Given the description of an element on the screen output the (x, y) to click on. 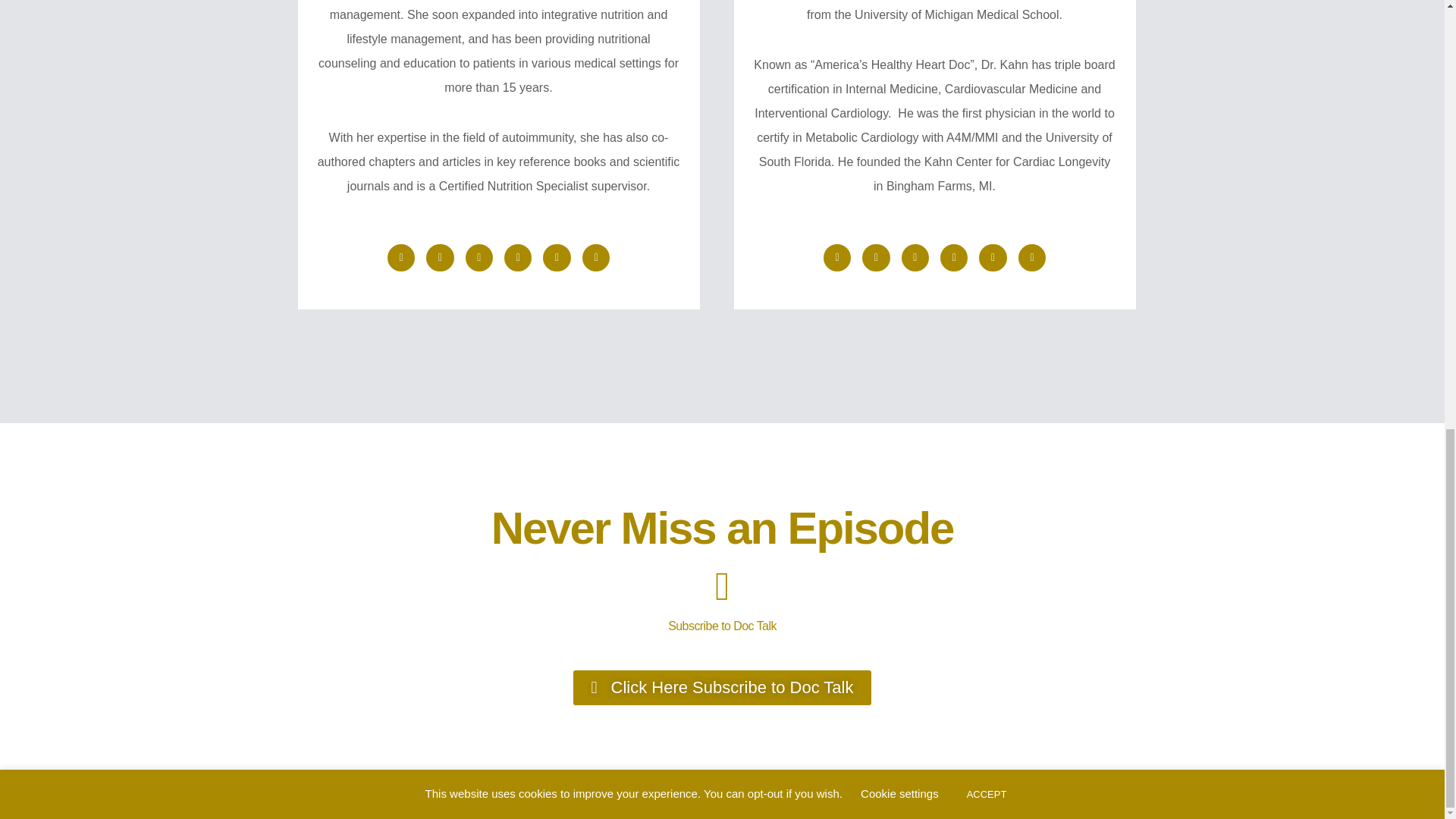
Click Here Subscribe to Doc Talk (722, 687)
